Given the description of an element on the screen output the (x, y) to click on. 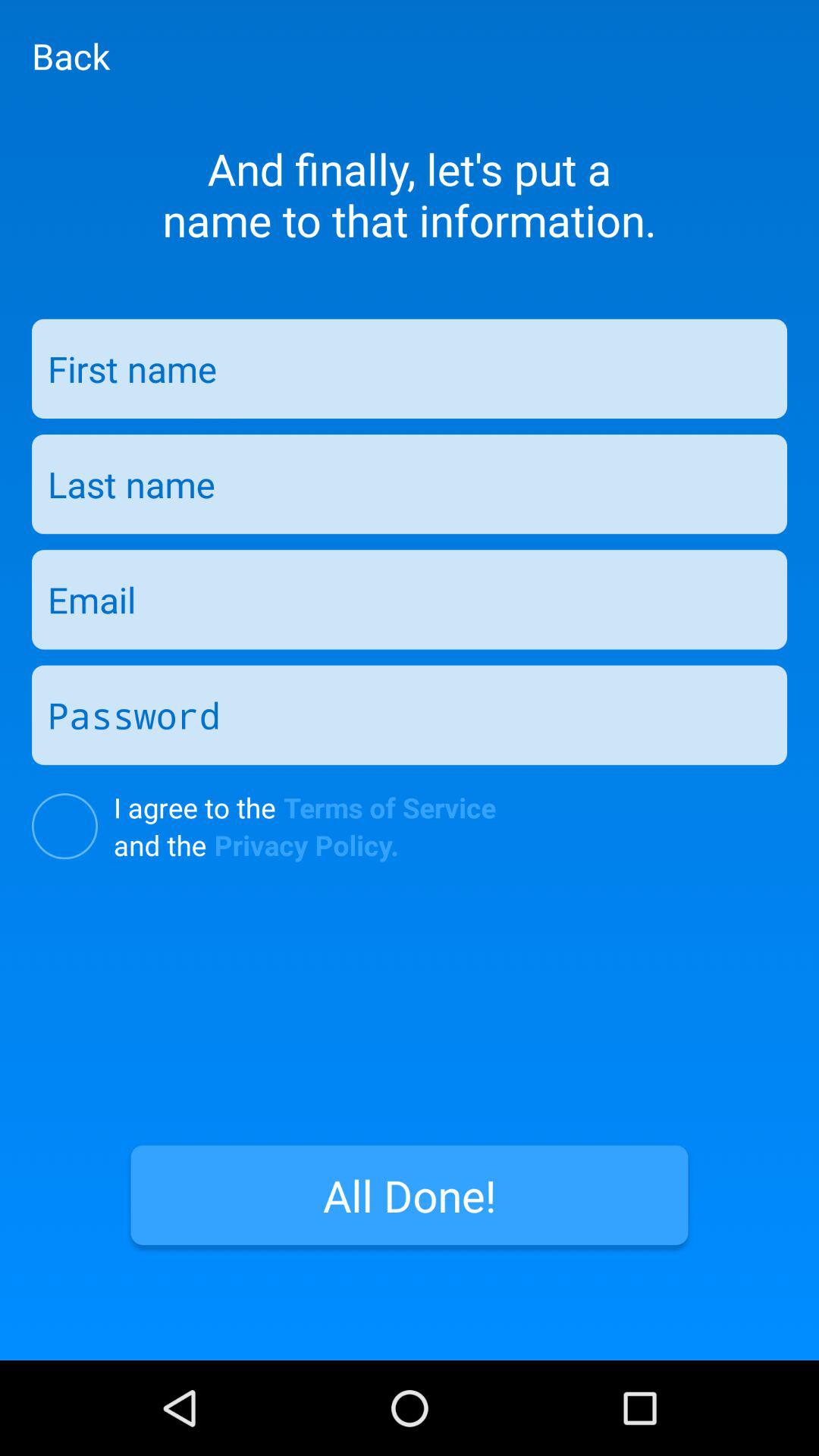
enter email (409, 599)
